Given the description of an element on the screen output the (x, y) to click on. 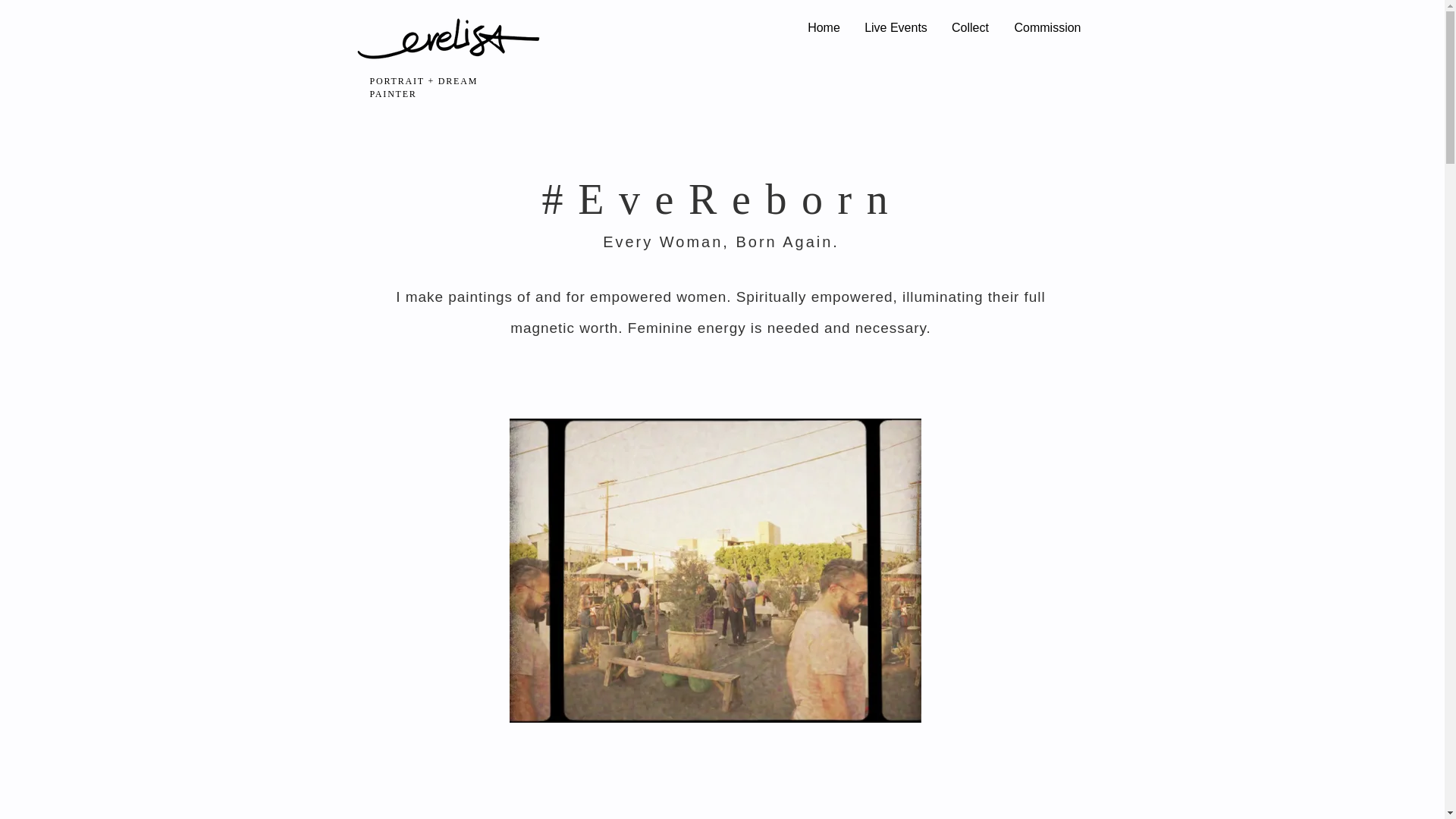
SIGNATURE GOLD (448, 39)
Collect (970, 27)
Home (822, 27)
Commission (1047, 27)
Live Events (895, 27)
